Given the description of an element on the screen output the (x, y) to click on. 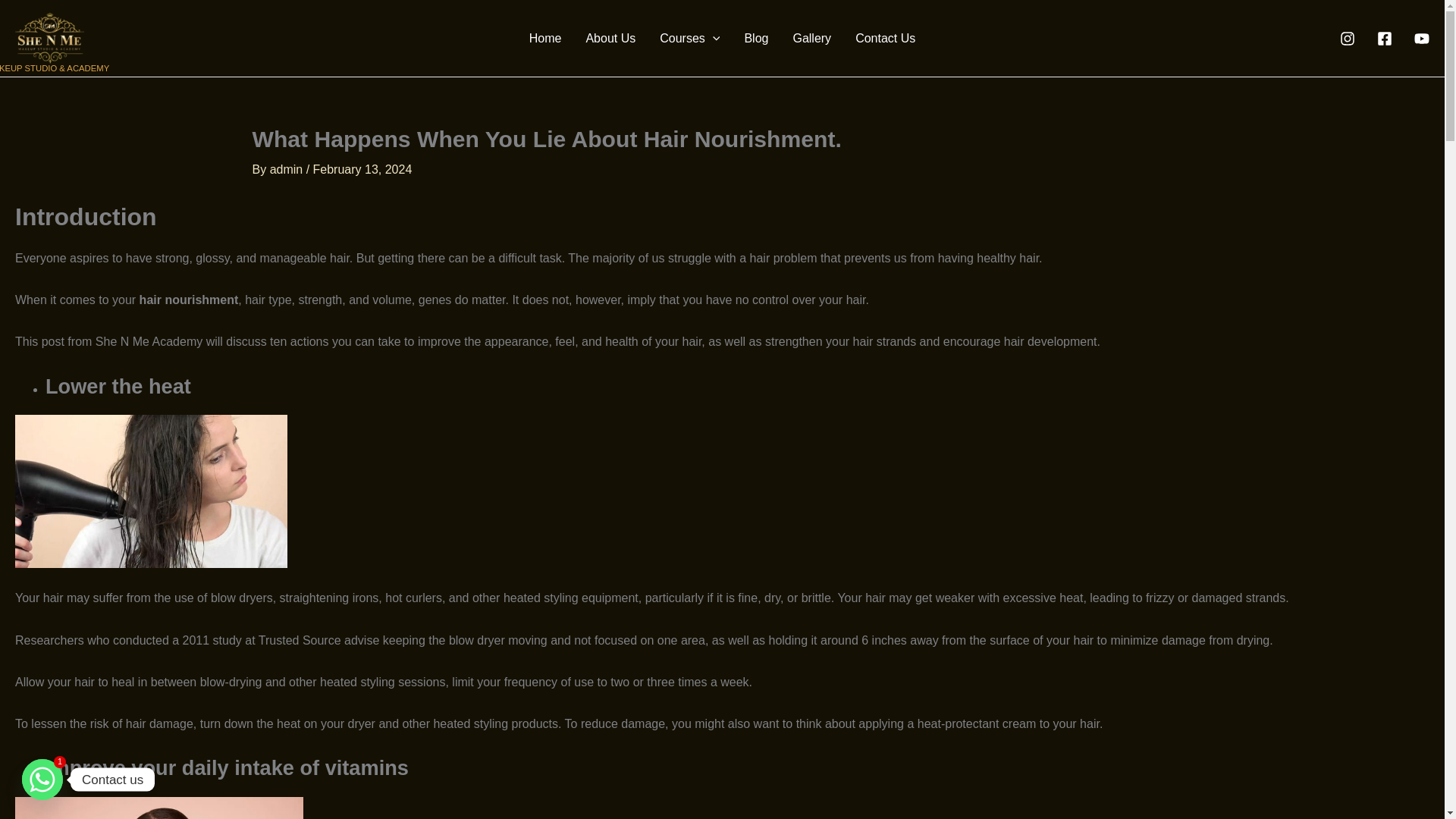
Contact Us (885, 38)
About Us (610, 38)
Gallery (811, 38)
Home (544, 38)
admin (287, 169)
View all posts by admin (287, 169)
Blog (756, 38)
Courses (689, 38)
